Given the description of an element on the screen output the (x, y) to click on. 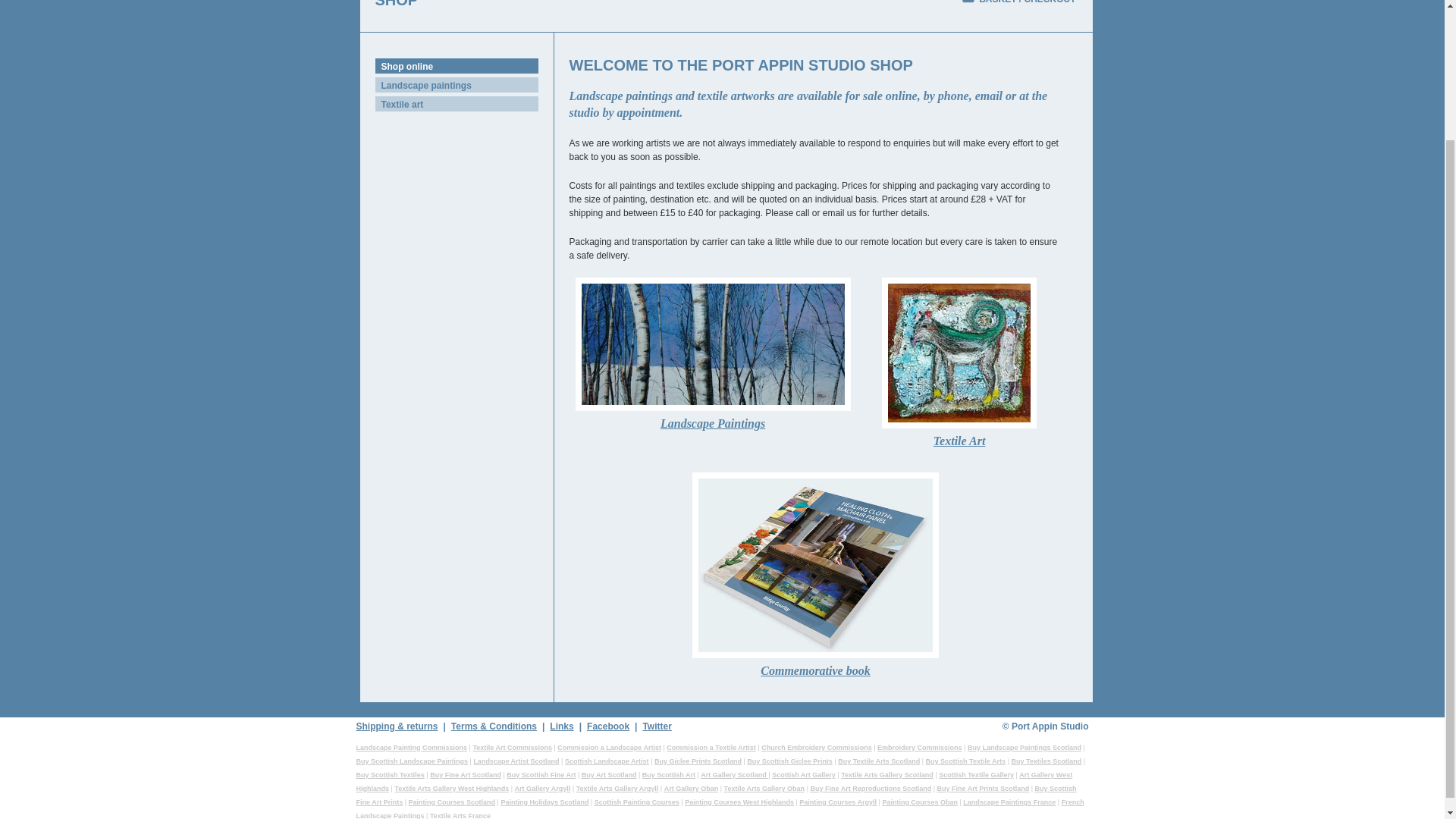
Buy Scottish Textile Arts (966, 760)
Textile art (455, 103)
Buy Art Scotland (608, 774)
Scottish Landscape Artist (606, 760)
Buy Scottish Landscape Paintings (412, 760)
Buy Textiles Scotland (1045, 760)
Buy Scottish Giclee Prints (789, 760)
Church Embroidery Commissions (816, 747)
Landscape Paintings (712, 358)
Commission a Landscape Artist (609, 747)
Landscape Artist Scotland (516, 760)
Commemorative book (816, 579)
Commission a Textile Artist (710, 747)
Shop online (455, 65)
Buy Giclee Prints Scotland (697, 760)
